Given the description of an element on the screen output the (x, y) to click on. 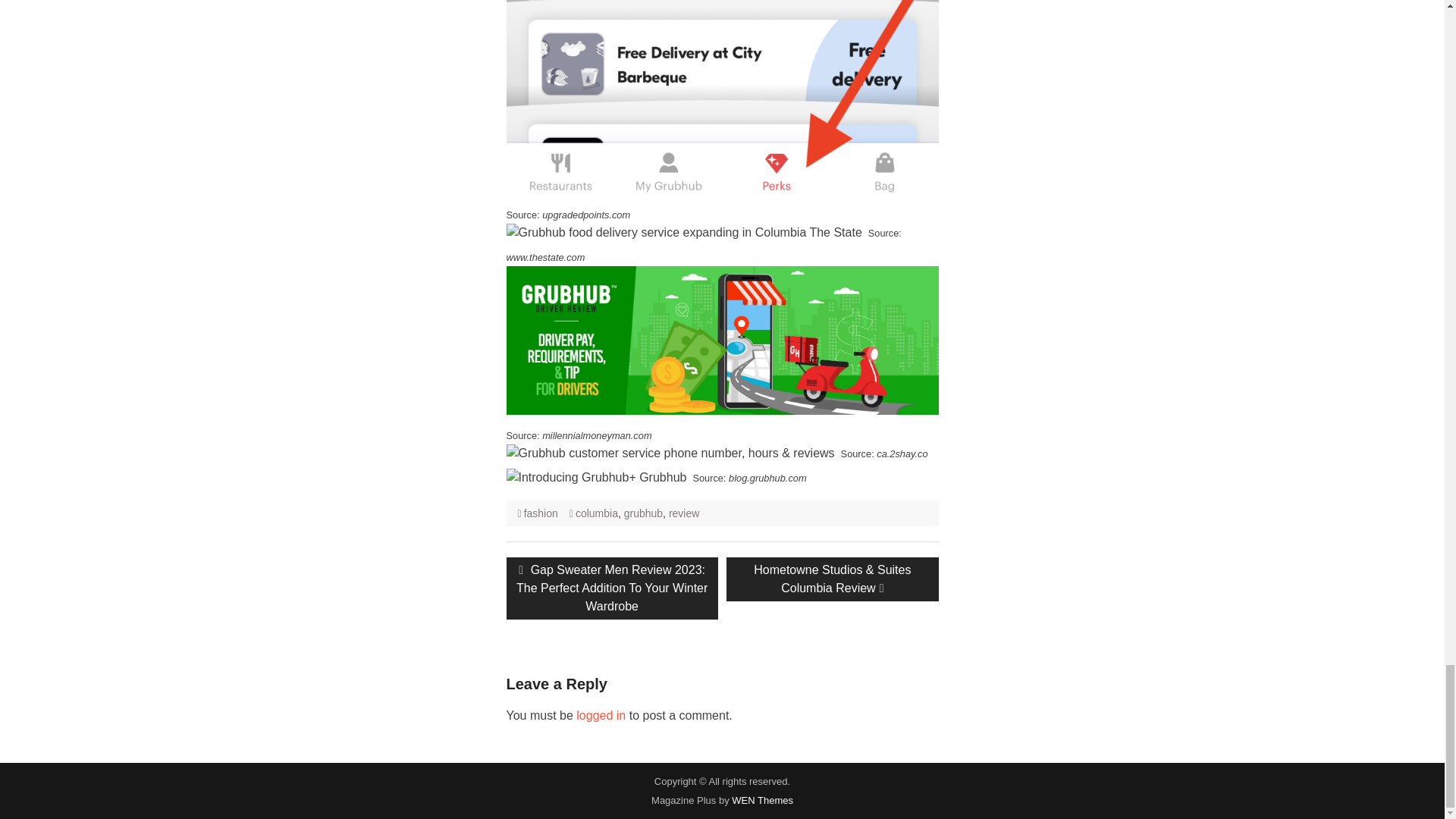
fashion (540, 512)
columbia (596, 512)
review (683, 512)
grubhub (643, 512)
